Given the description of an element on the screen output the (x, y) to click on. 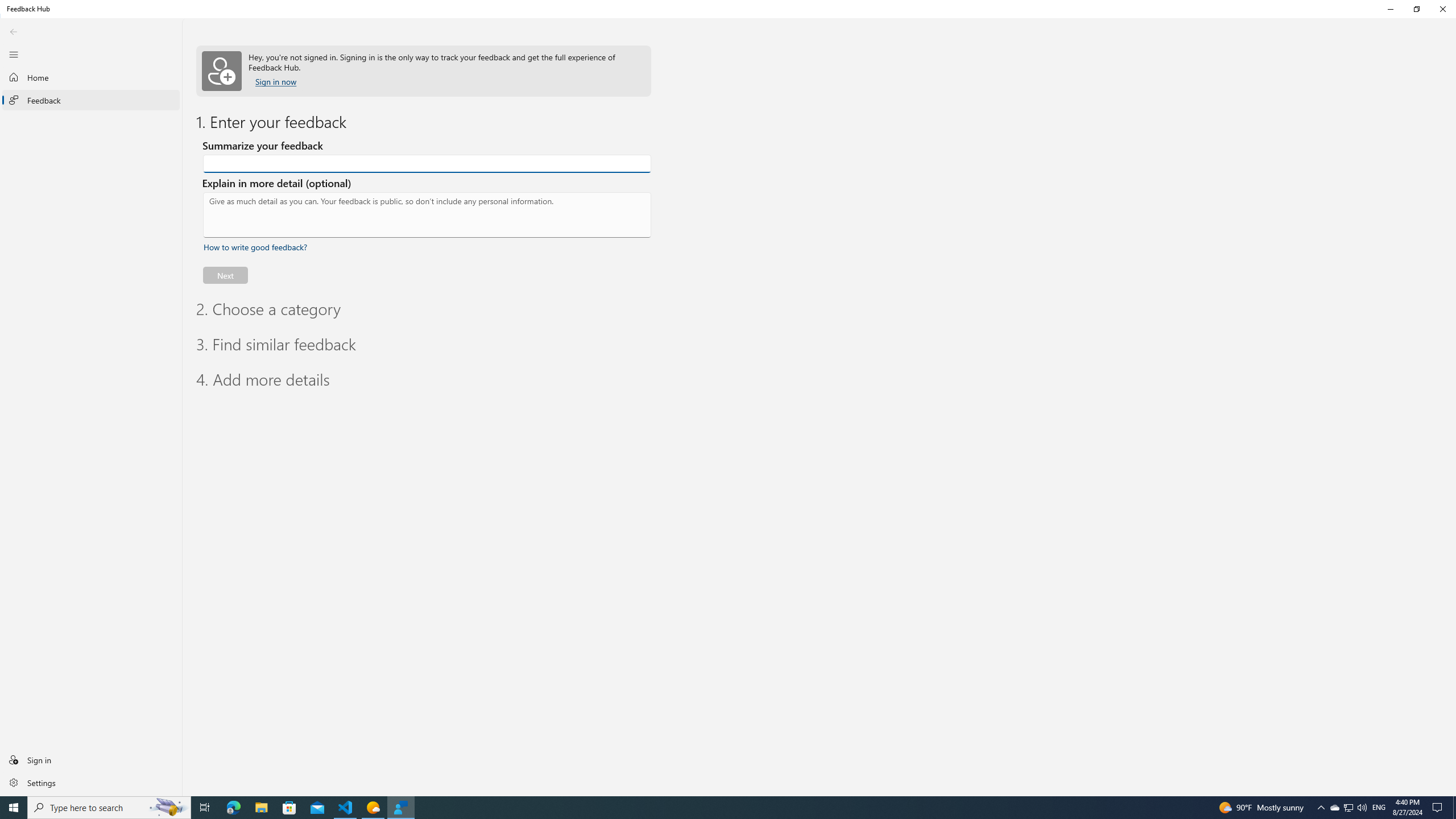
Microsoft Store (289, 807)
Task View (204, 807)
Close Navigation (13, 54)
Next (224, 275)
Restore Feedback Hub (1416, 9)
Sign in now (276, 81)
Running applications (706, 807)
How to write good feedback? Expand or collapse for tips. (255, 246)
User Promoted Notification Area (1347, 807)
Start (13, 807)
Home (90, 77)
Close Feedback Hub (1442, 9)
Visual Studio Code - 1 running window (345, 807)
Back (13, 31)
